Given the description of an element on the screen output the (x, y) to click on. 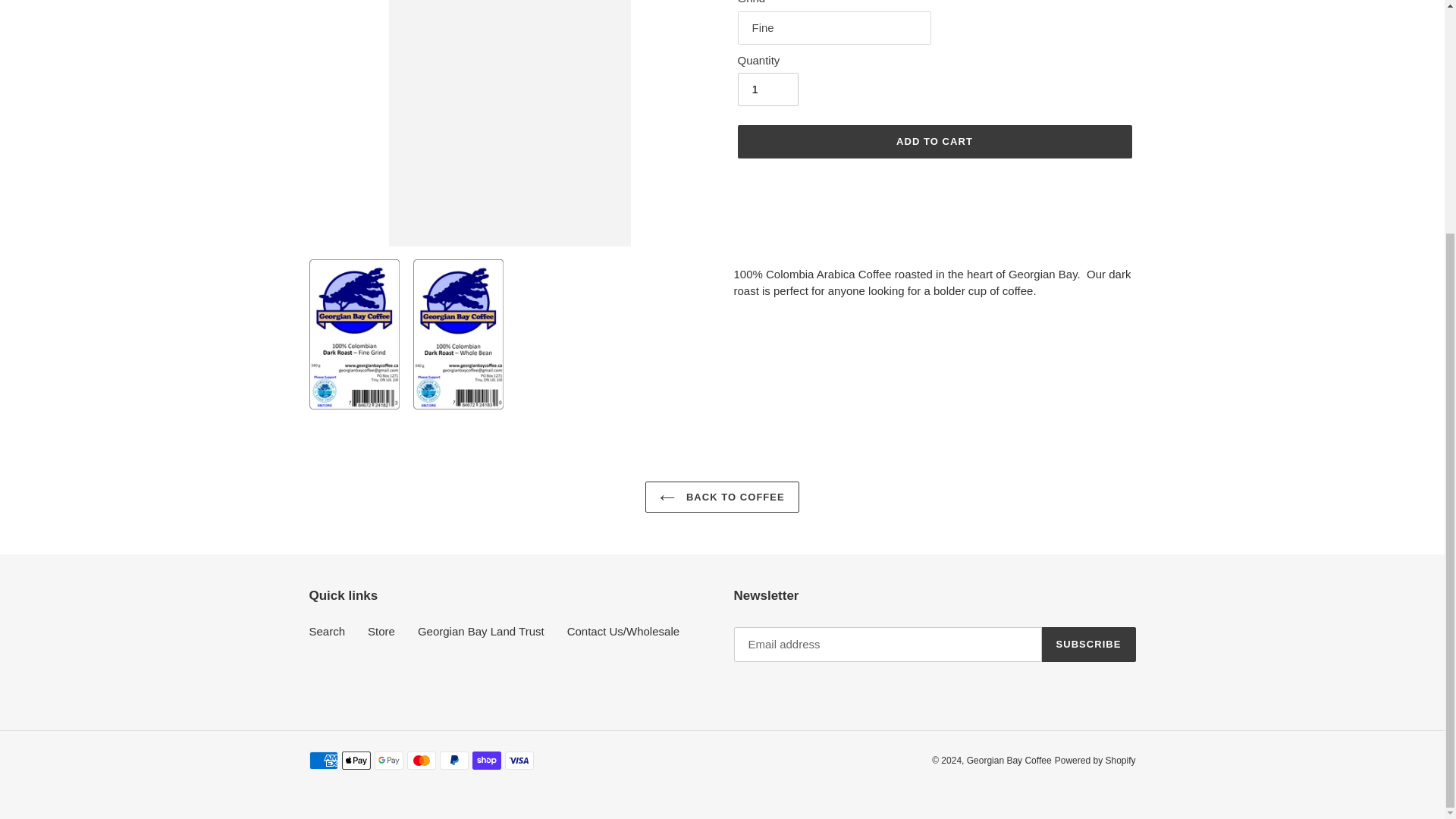
1 (766, 89)
ADD TO CART (933, 141)
Powered by Shopify (1094, 760)
Georgian Bay Land Trust (480, 631)
Search (327, 631)
BACK TO COFFEE (722, 497)
Store (381, 631)
Georgian Bay Coffee (1008, 760)
SUBSCRIBE (1088, 644)
